Given the description of an element on the screen output the (x, y) to click on. 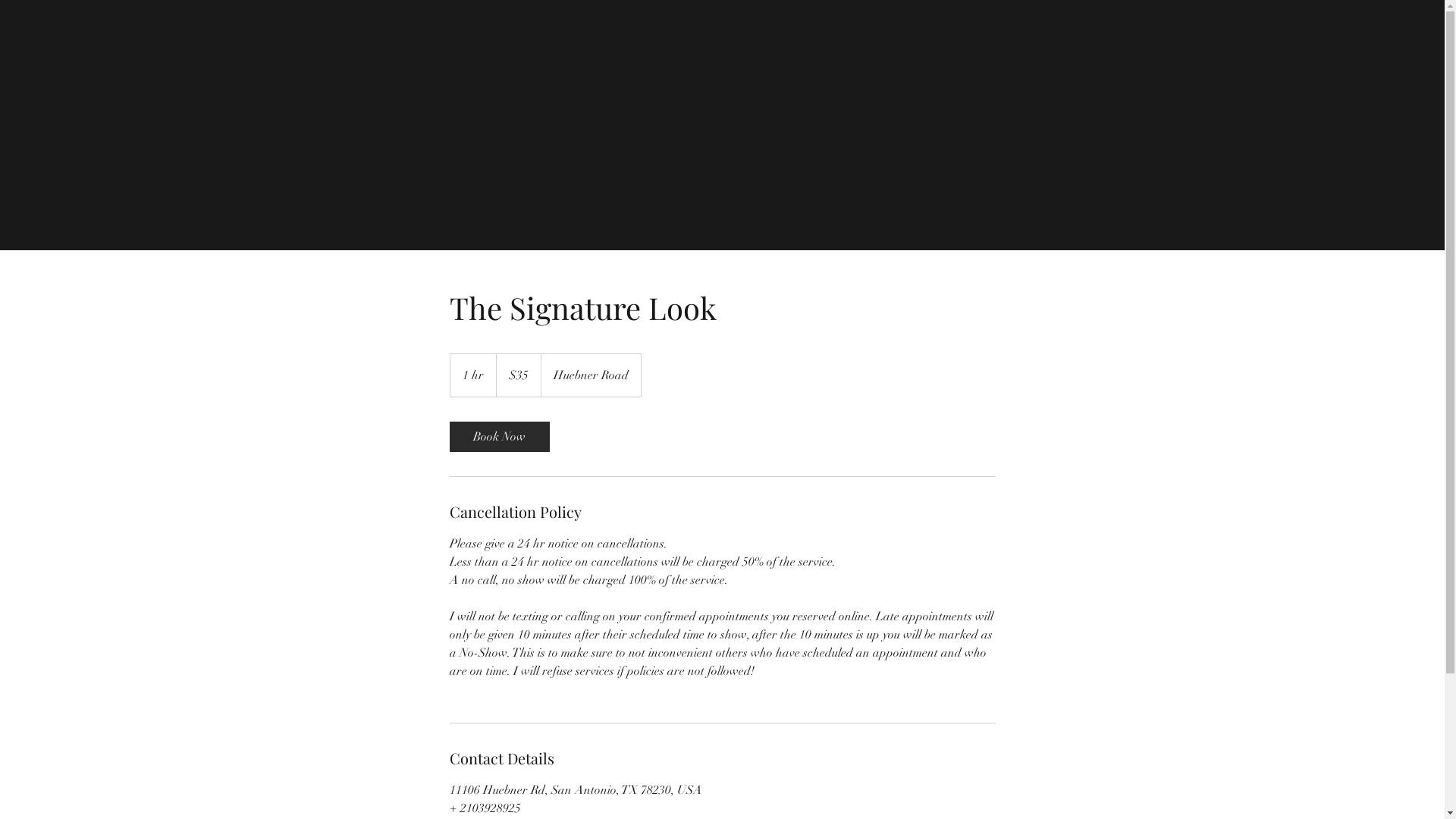
Book Now Element type: text (498, 436)
